Given the description of an element on the screen output the (x, y) to click on. 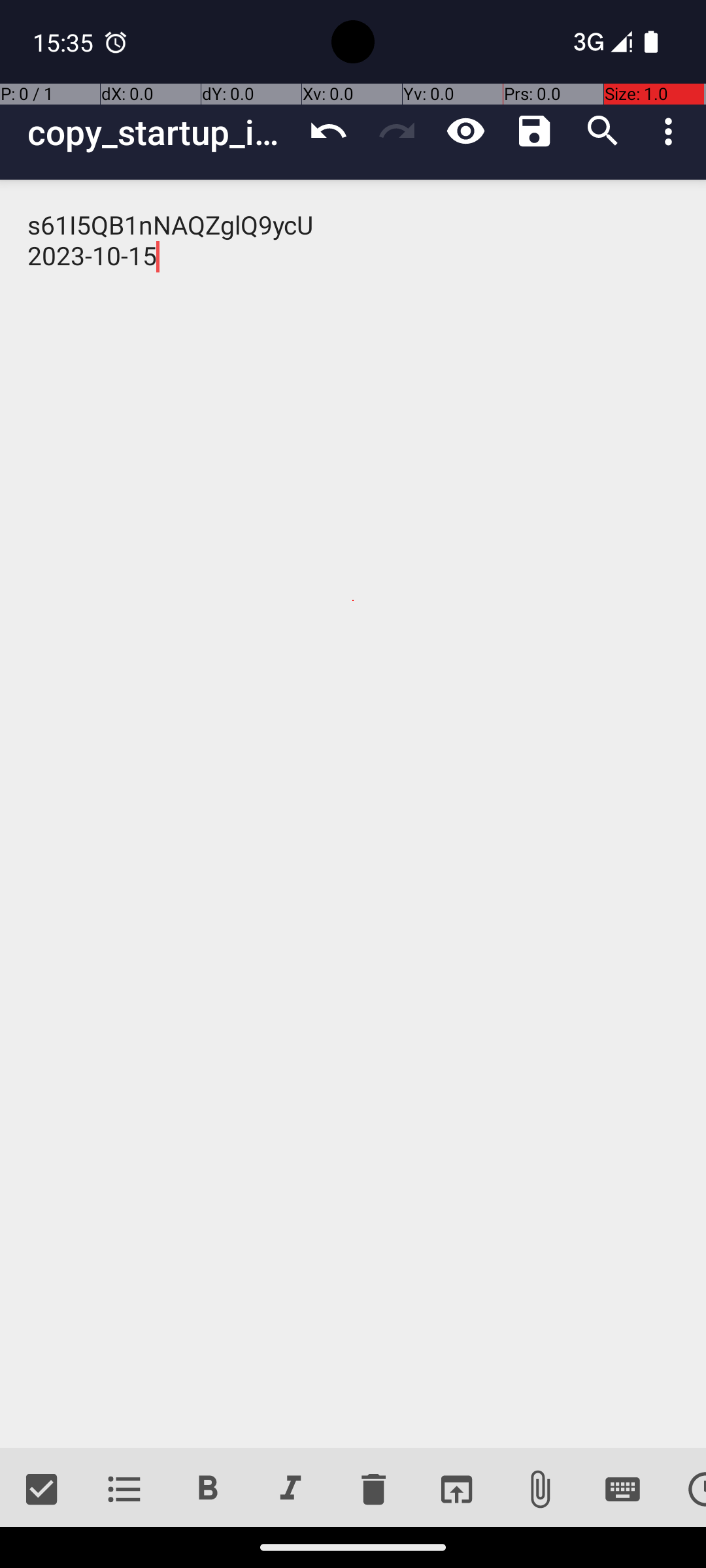
copy_startup_ideas_launch Element type: android.widget.TextView (160, 131)
s61I5QB1nNAQZglQ9ycU
2023-10-15 Element type: android.widget.EditText (353, 813)
